Given the description of an element on the screen output the (x, y) to click on. 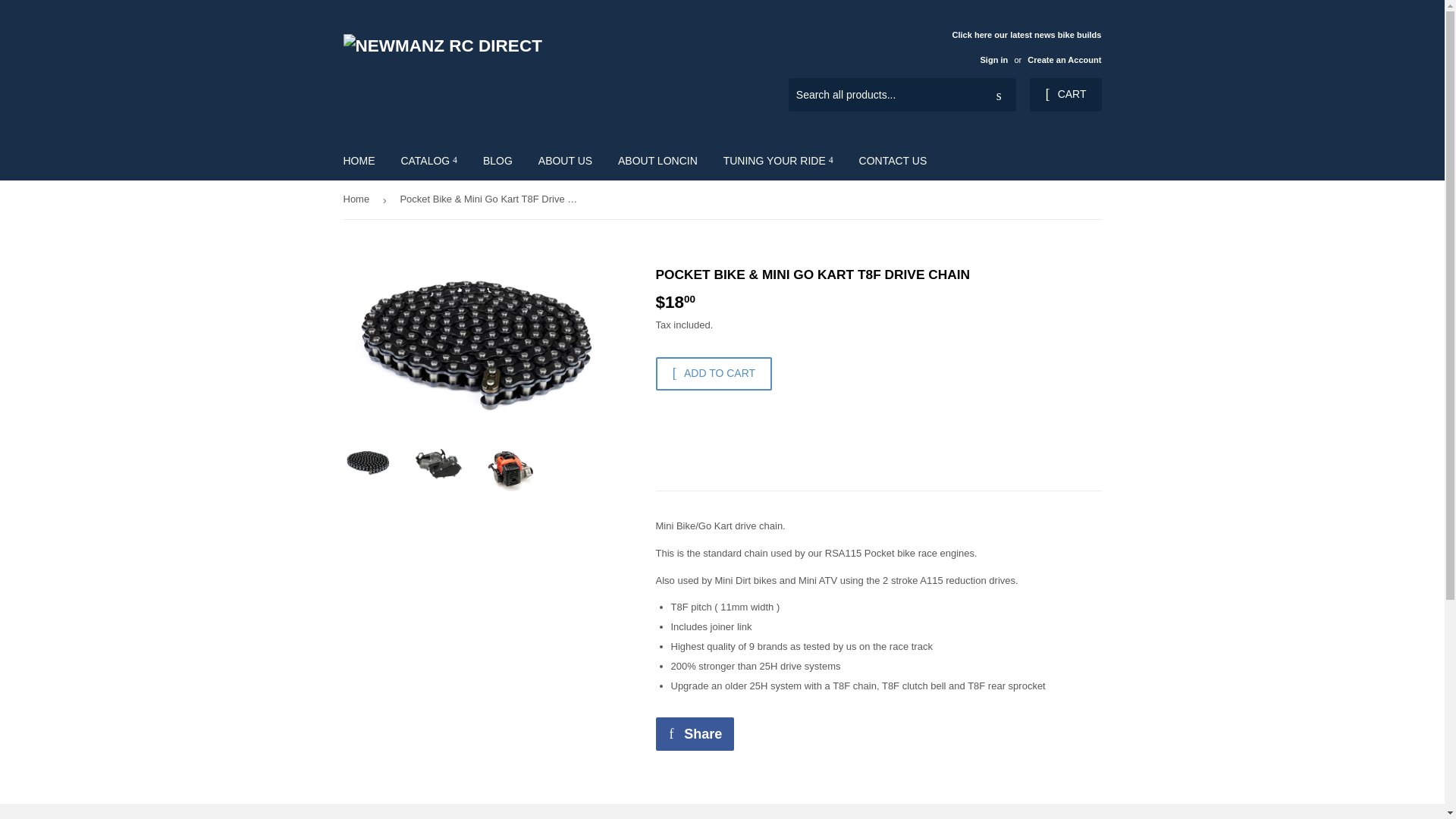
Search (998, 95)
Sign in (993, 59)
CART (1064, 94)
HOME (359, 160)
Click here our latest news bike builds (1026, 46)
CATALOG (428, 160)
Share on Facebook (694, 734)
Create an Account (1063, 59)
